Given the description of an element on the screen output the (x, y) to click on. 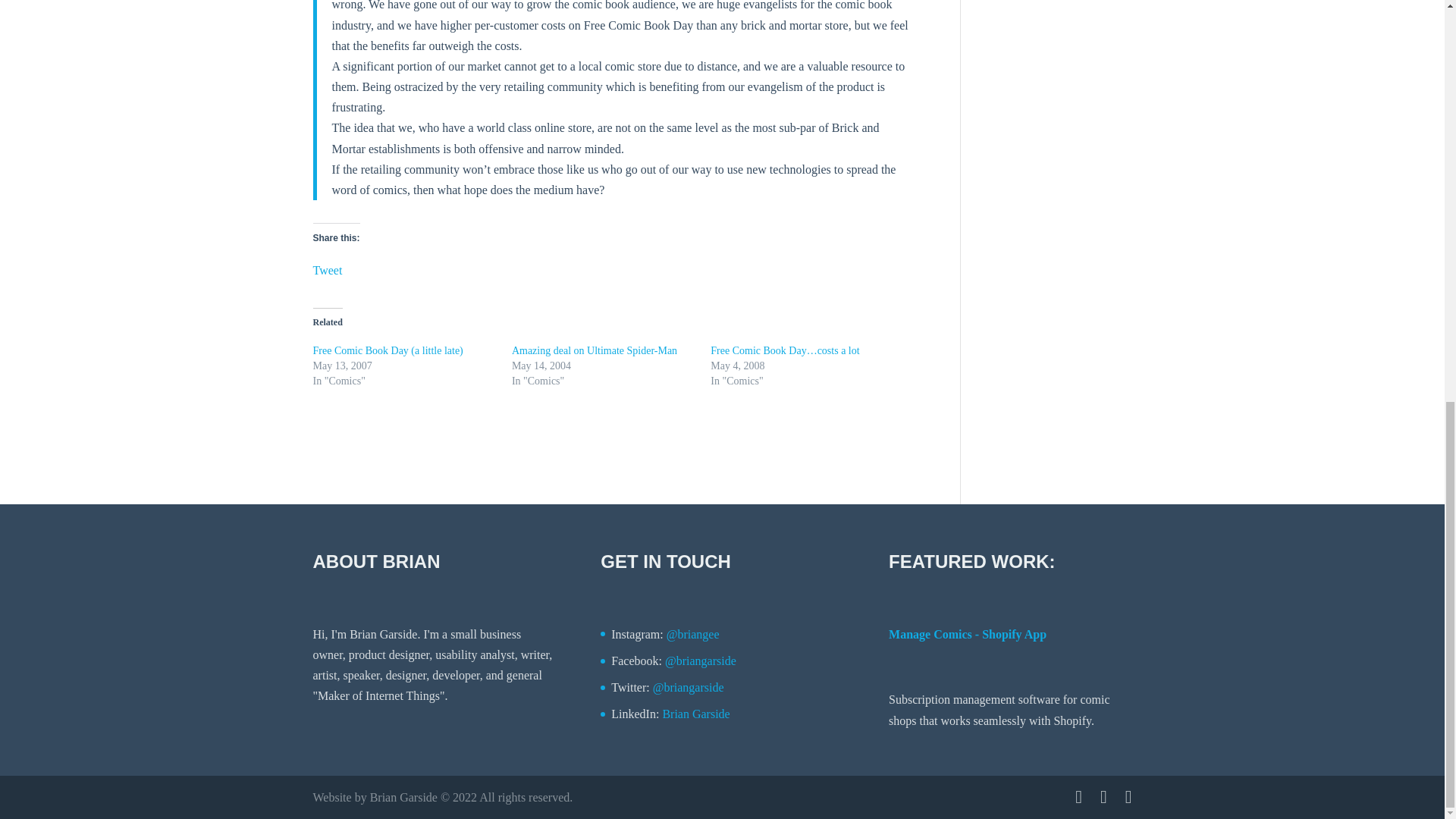
Brian Garside (695, 713)
Tweet (327, 267)
Manage Comics - Shopify App (967, 634)
Amazing deal on Ultimate Spider-Man (594, 350)
Amazing deal on Ultimate Spider-Man (594, 350)
